Given the description of an element on the screen output the (x, y) to click on. 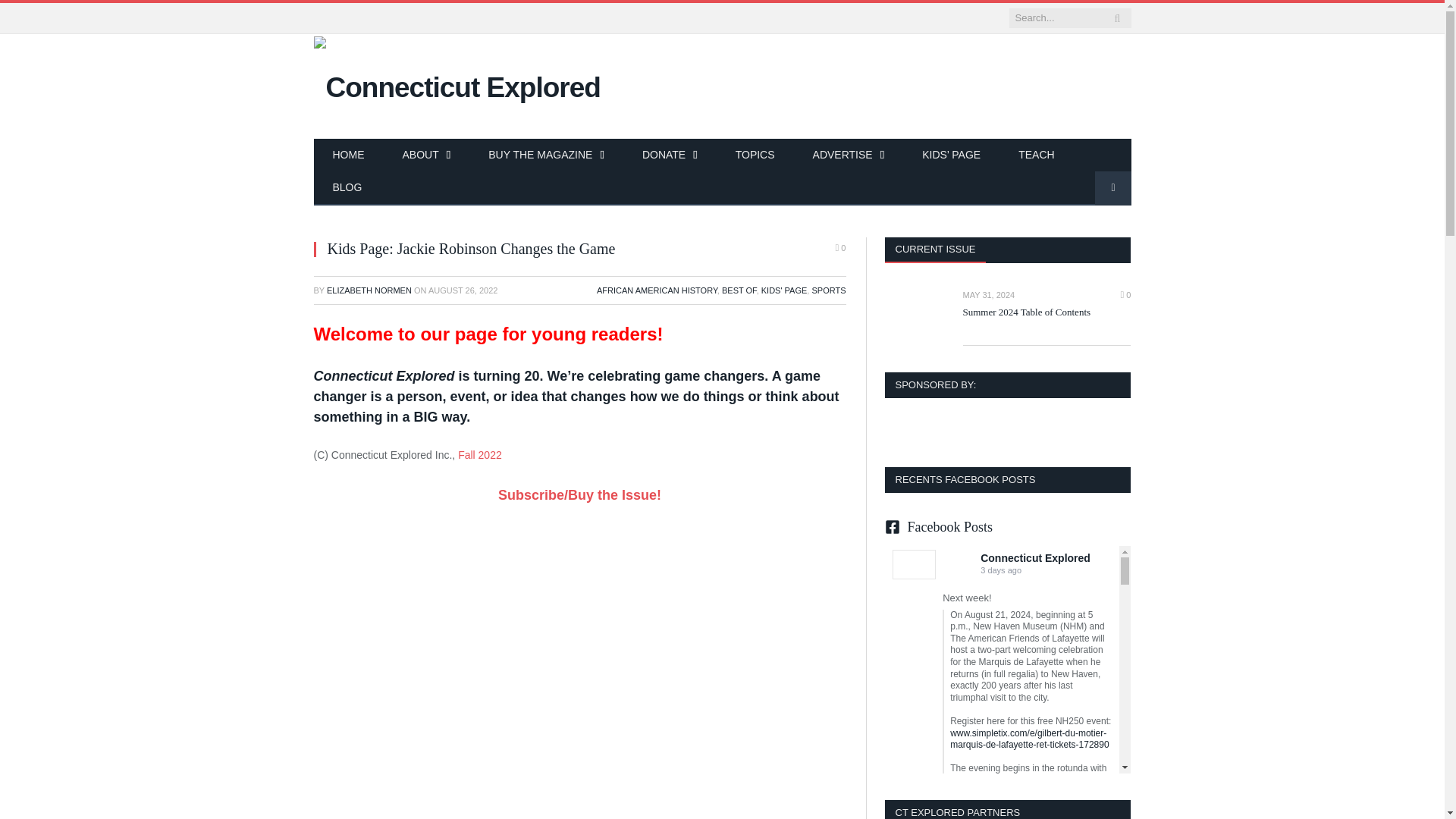
Connecticut Explored (456, 84)
TEACH (1035, 155)
AFRICAN AMERICAN HISTORY (656, 289)
KIDS' PAGE (784, 289)
Summer 2024 Table of Contents (1046, 312)
ABOUT (427, 155)
2022-08-26 (462, 289)
ELIZABETH NORMEN (369, 289)
BUY THE MAGAZINE (545, 155)
BEST OF (739, 289)
